Given the description of an element on the screen output the (x, y) to click on. 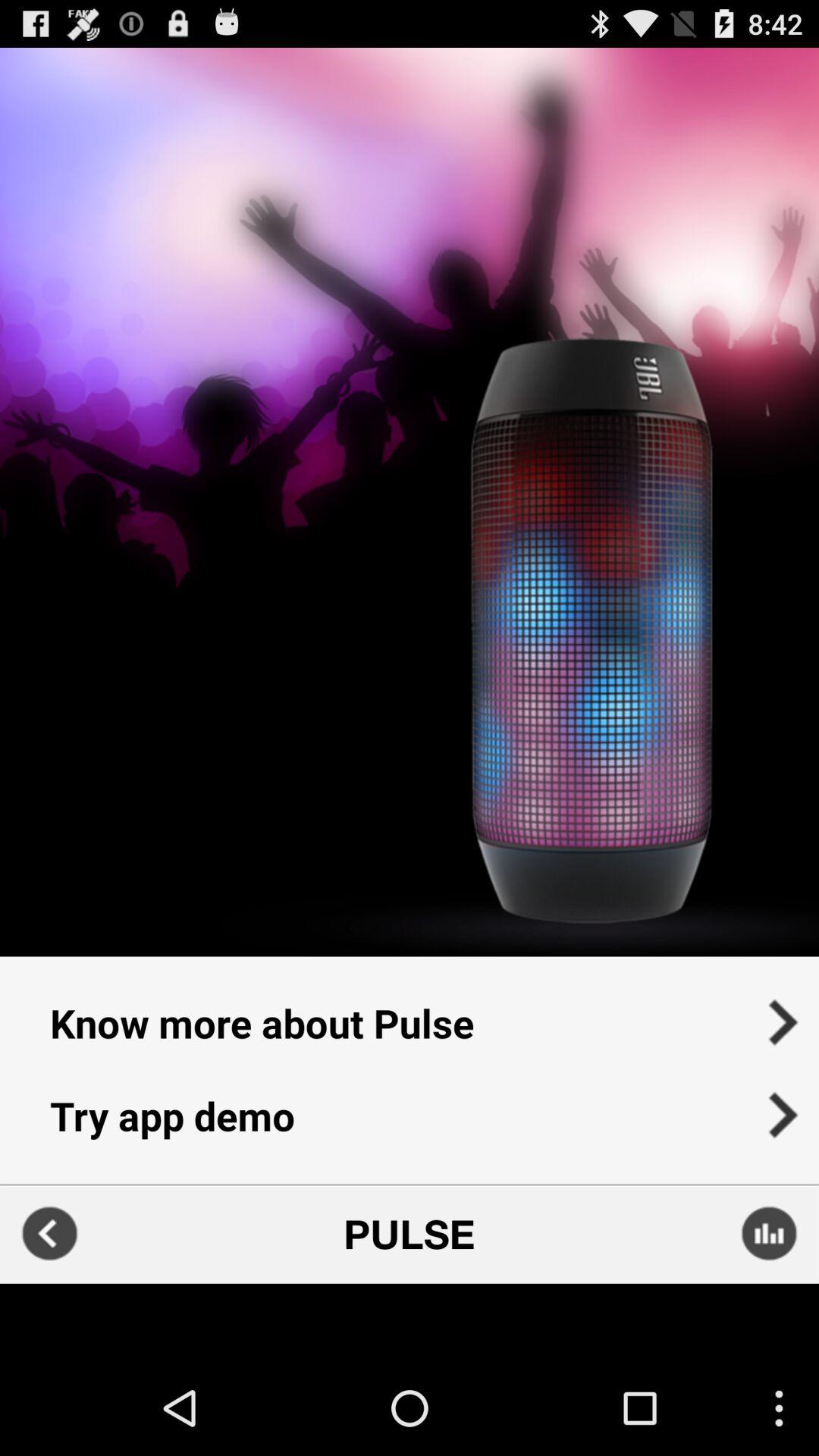
go back (49, 1233)
